Given the description of an element on the screen output the (x, y) to click on. 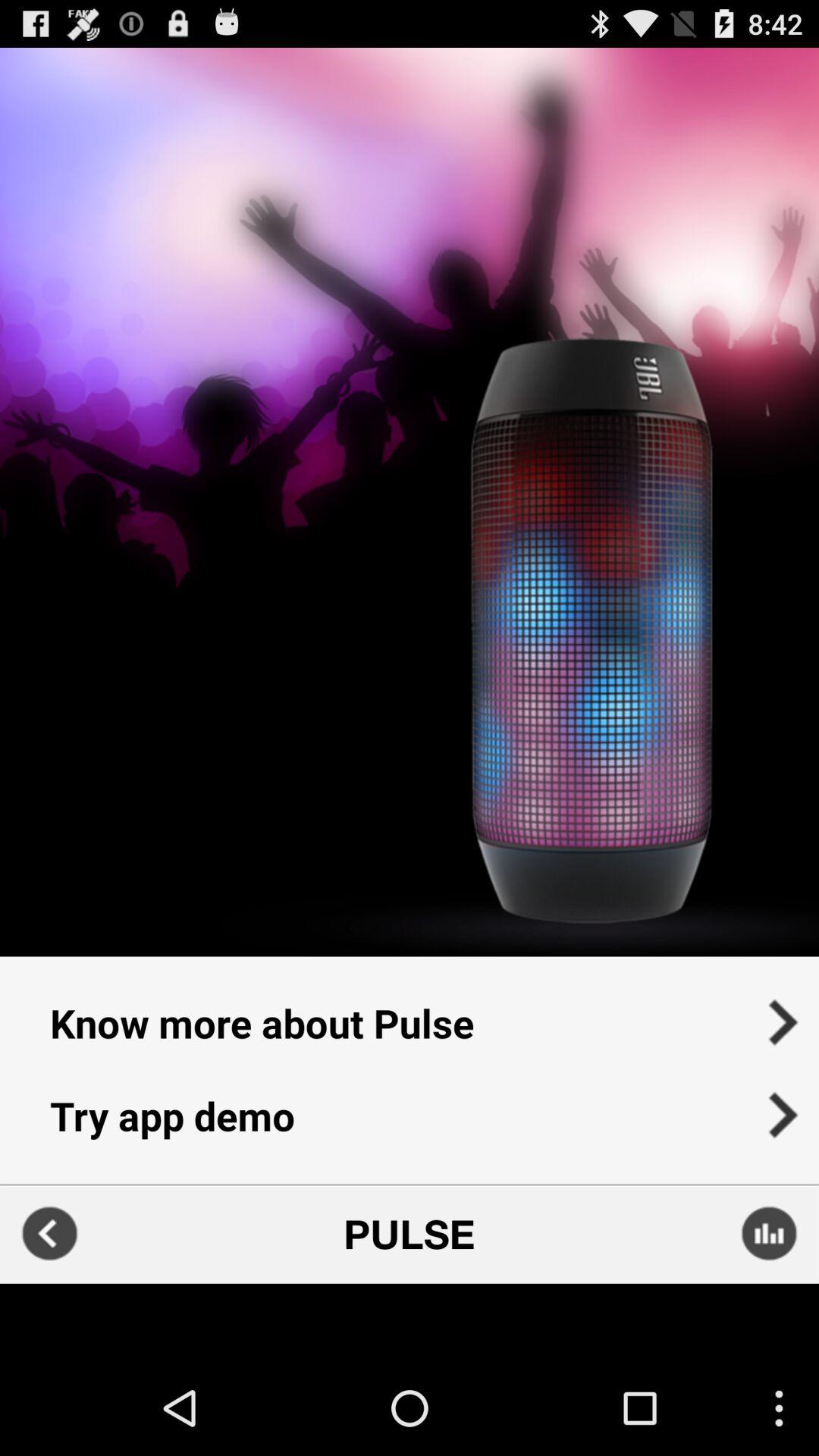
go back (49, 1233)
